Given the description of an element on the screen output the (x, y) to click on. 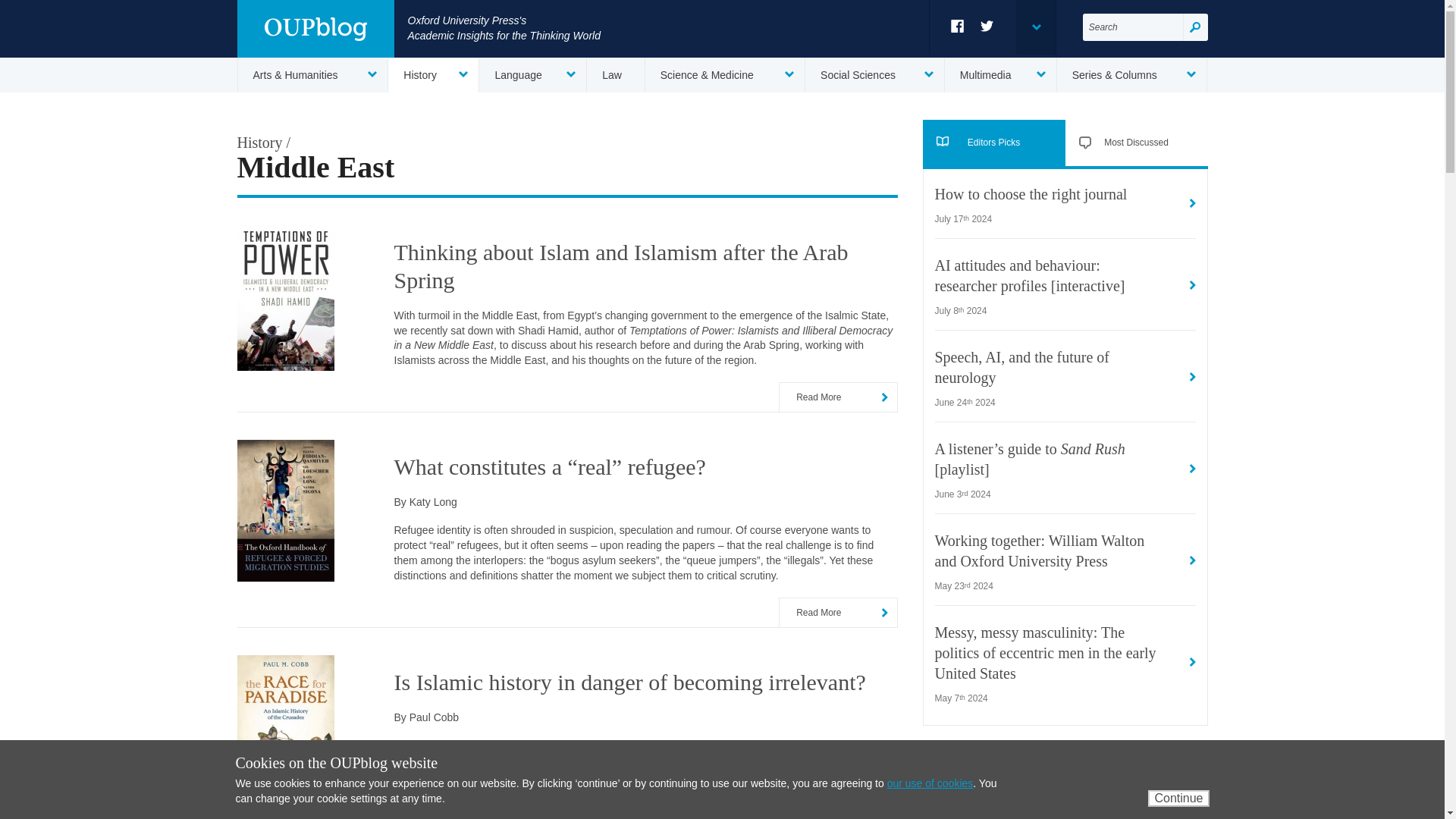
Twitter (986, 25)
Search (1195, 26)
Facebook (957, 25)
our use of cookies (930, 783)
Subscribe (1154, 805)
Language (532, 74)
History (433, 74)
Continue (1178, 798)
Search for: (1132, 26)
